Given the description of an element on the screen output the (x, y) to click on. 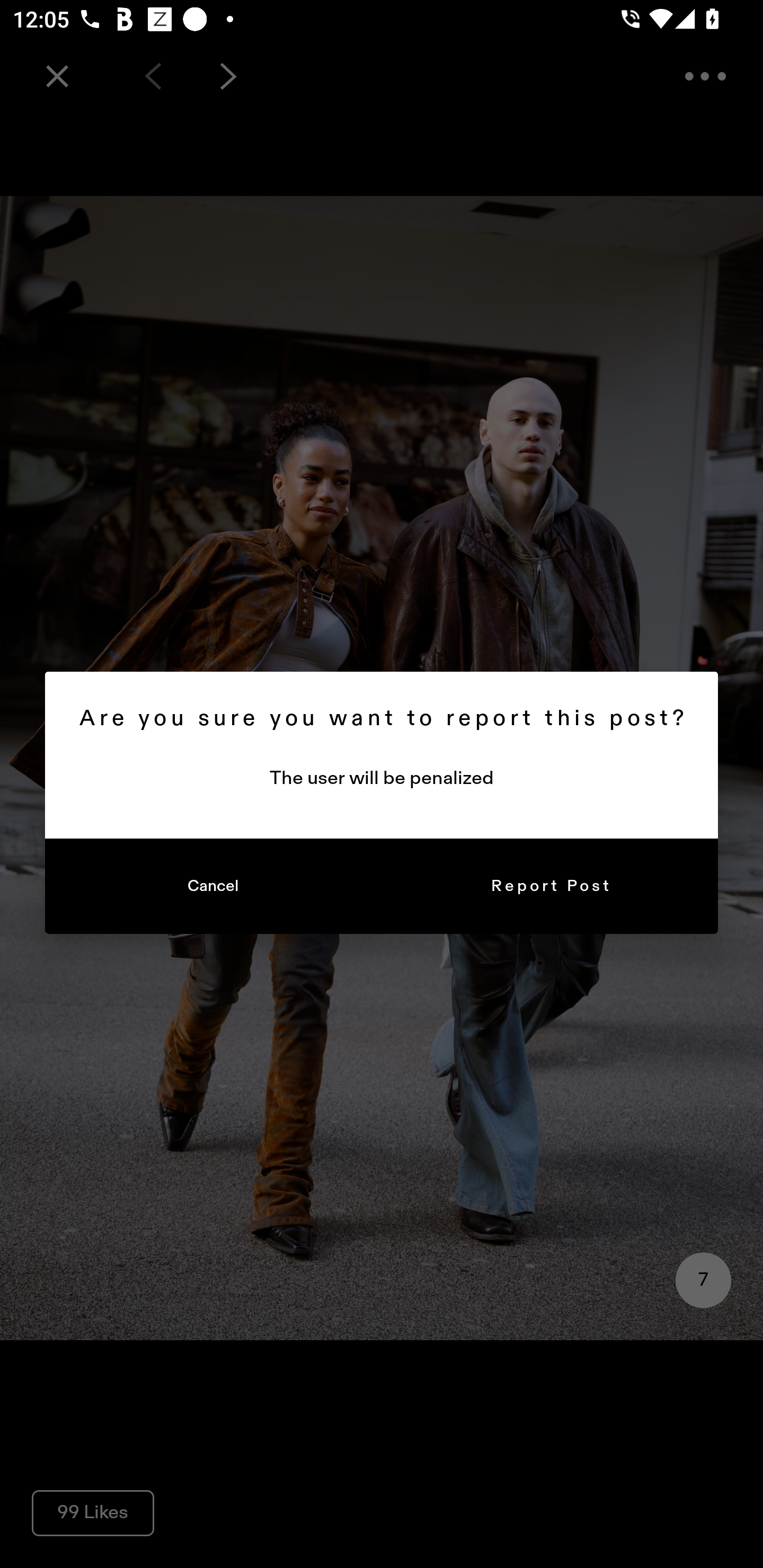
Cancel (213, 886)
Report Post (549, 886)
